Given the description of an element on the screen output the (x, y) to click on. 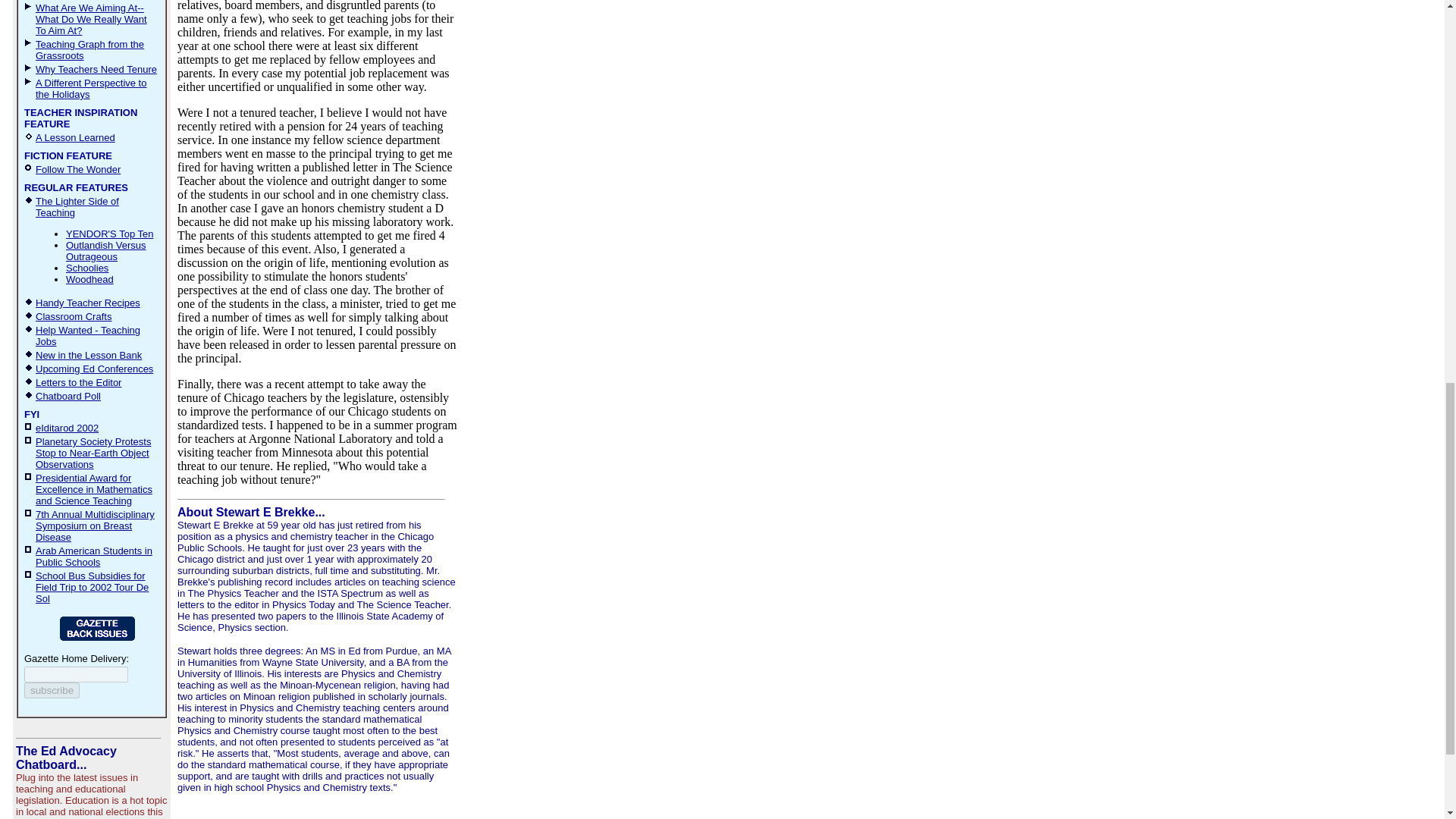
subscribe (52, 690)
